Given the description of an element on the screen output the (x, y) to click on. 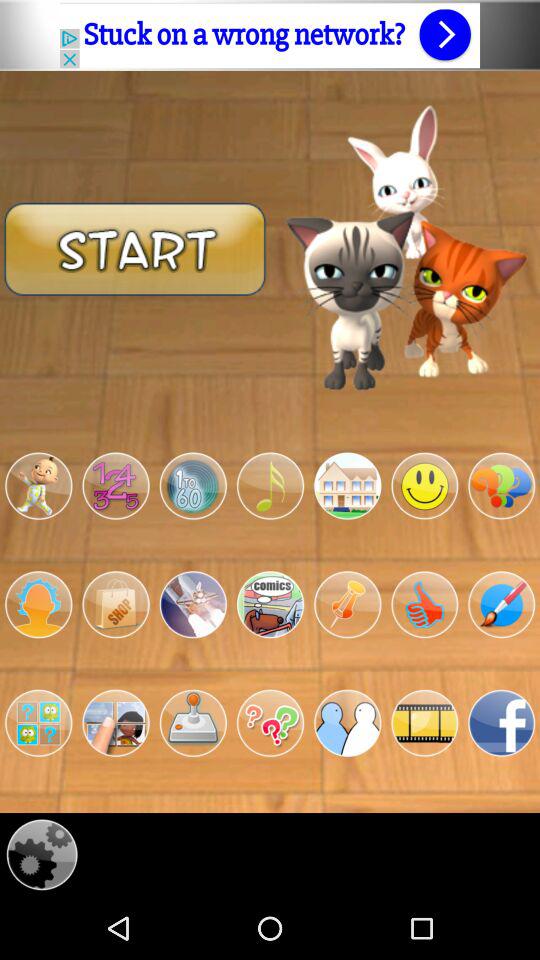
go to the shop (115, 604)
